Given the description of an element on the screen output the (x, y) to click on. 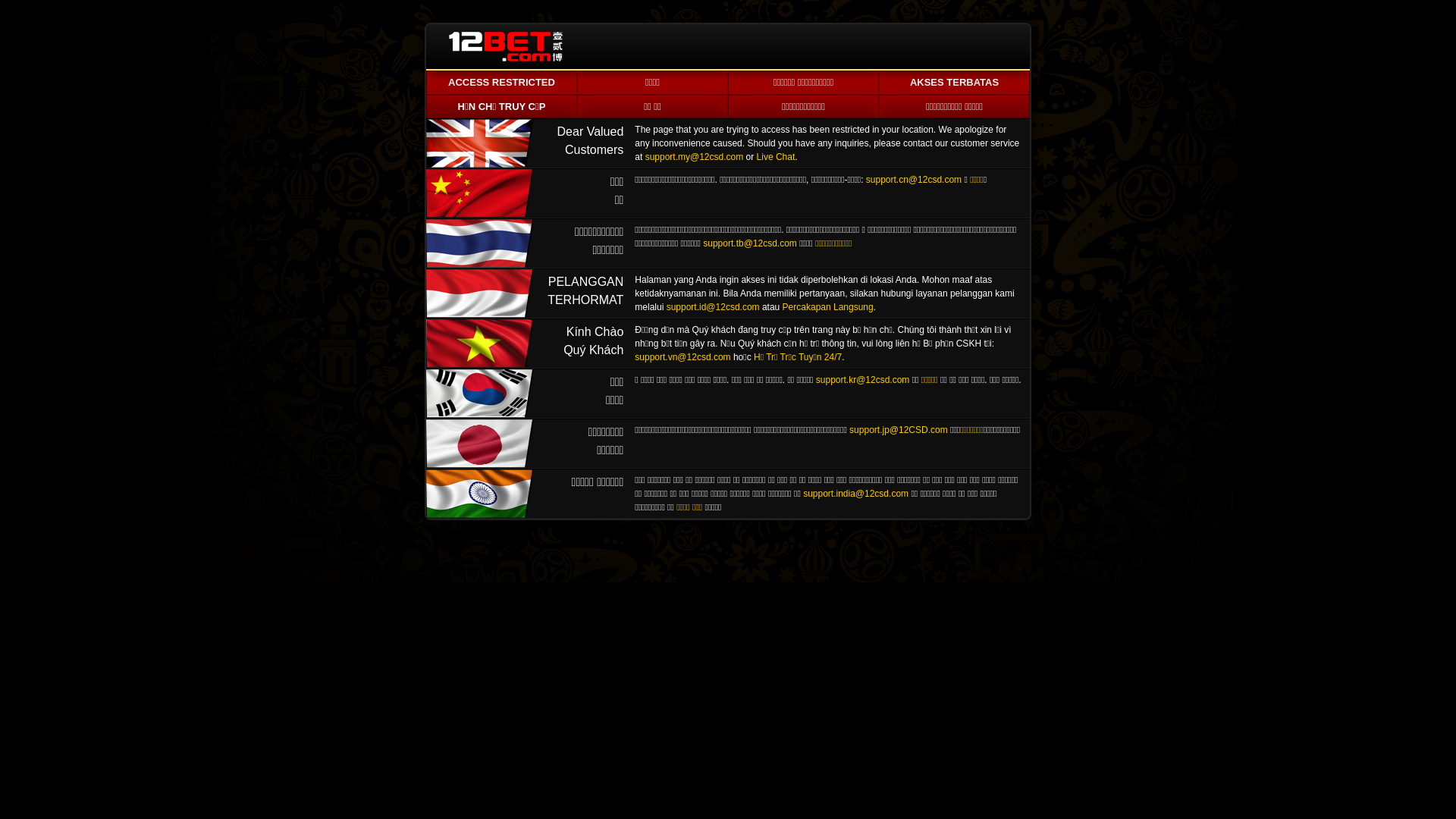
Percakapan Langsung Element type: text (827, 306)
support.my@12csd.com Element type: text (694, 156)
support.vn@12csd.com Element type: text (682, 356)
support.jp@12CSD.com Element type: text (898, 429)
support.kr@12csd.com Element type: text (862, 379)
support.id@12csd.com Element type: text (712, 306)
support.tb@12csd.com Element type: text (749, 243)
support.india@12csd.com Element type: text (855, 493)
Live Chat Element type: text (775, 156)
support.cn@12csd.com Element type: text (913, 179)
